Given the description of an element on the screen output the (x, y) to click on. 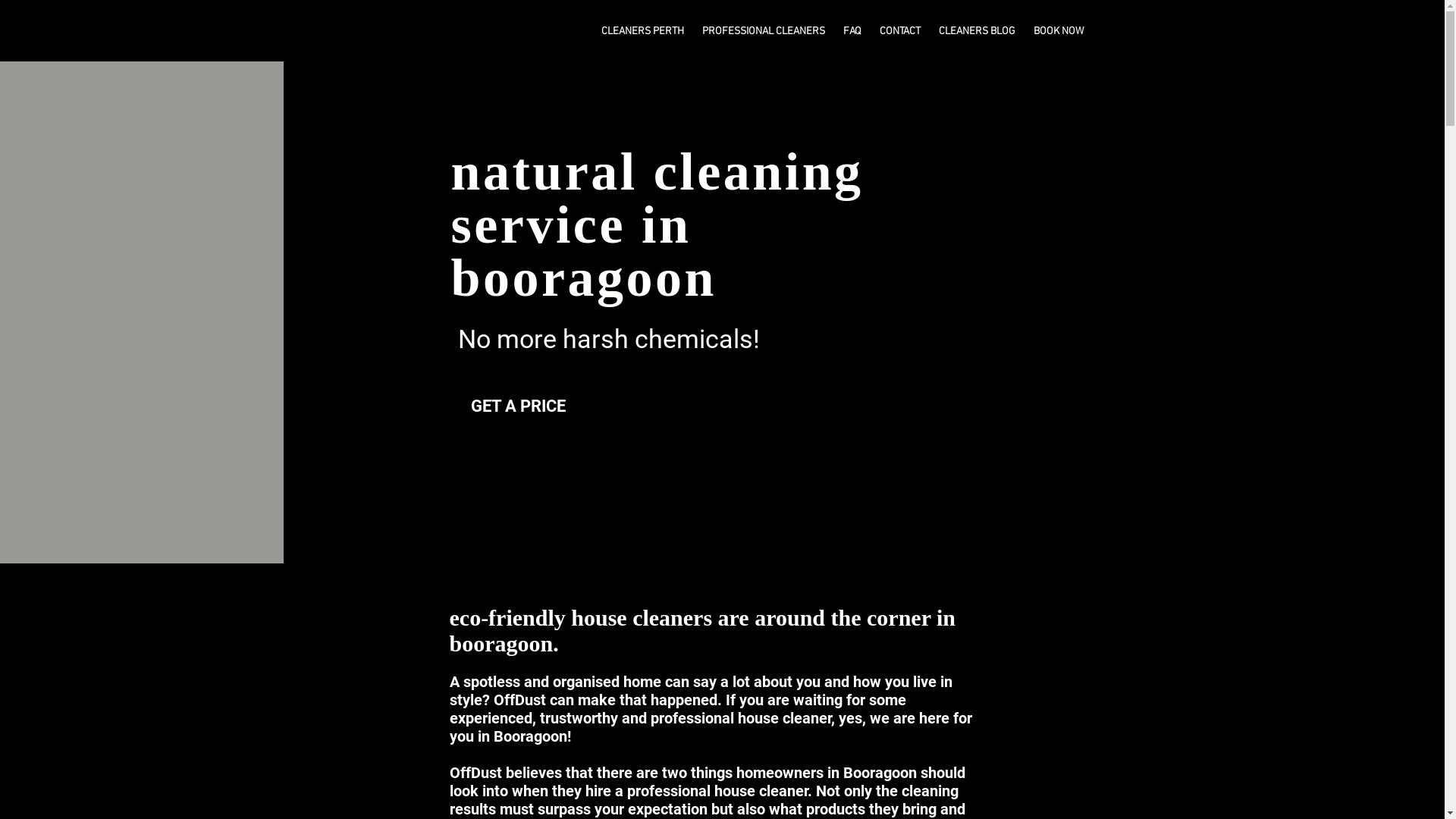
BOOK NOW Element type: text (1059, 31)
CONTACT Element type: text (901, 31)
FAQ Element type: text (853, 31)
CLEANERS BLOG Element type: text (978, 31)
CLEANERS PERTH Element type: text (643, 31)
PROFESSIONAL CLEANERS Element type: text (764, 31)
GET A PRICE Element type: text (567, 406)
